Given the description of an element on the screen output the (x, y) to click on. 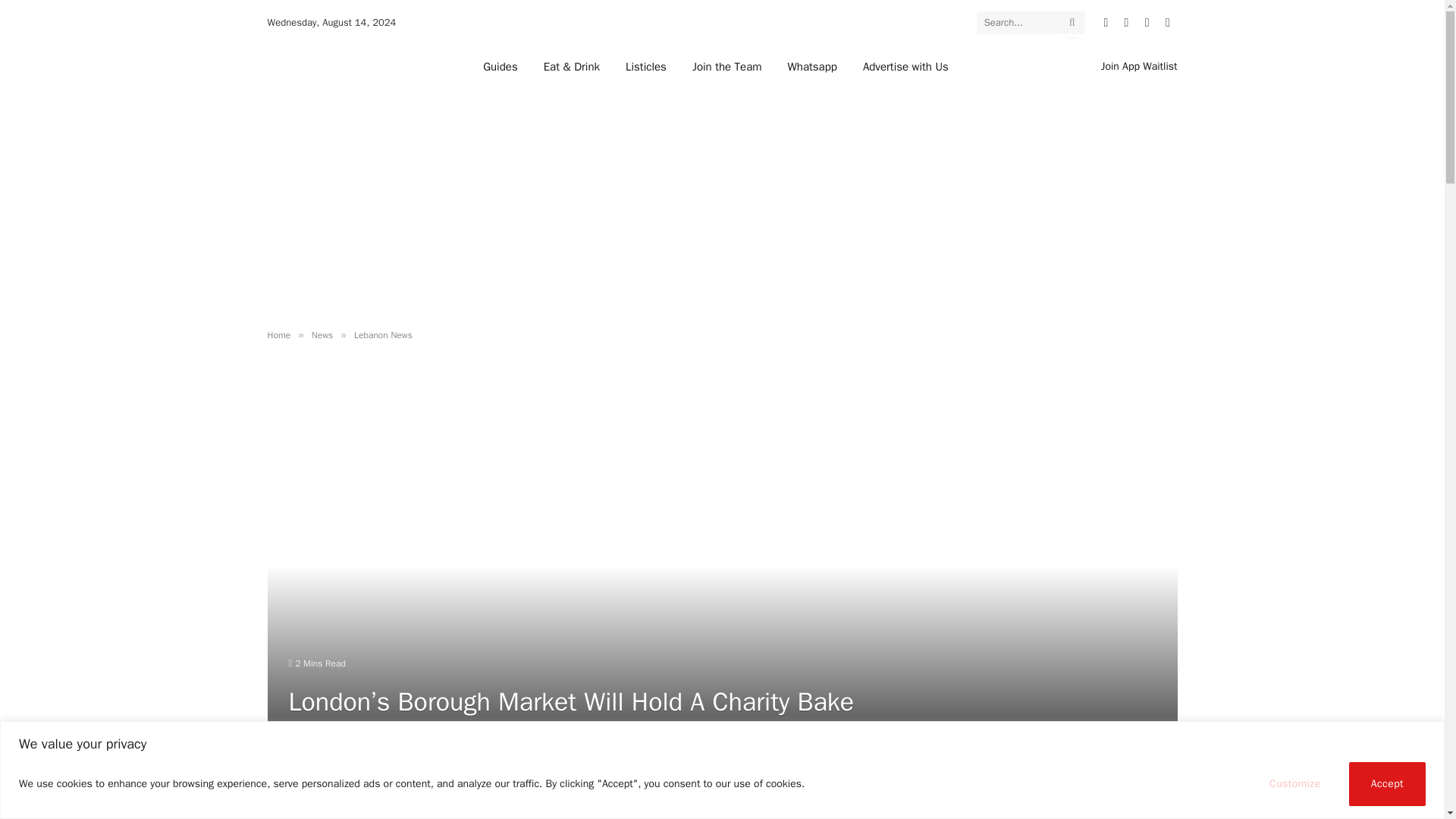
Guides (500, 65)
Lebanon News (382, 335)
Listicles (645, 65)
Home (277, 335)
Posts by Hussein Yassine (334, 774)
News (322, 335)
Join the Team (726, 65)
Whatsapp (812, 65)
Accept (1387, 783)
Customize (1294, 783)
